Given the description of an element on the screen output the (x, y) to click on. 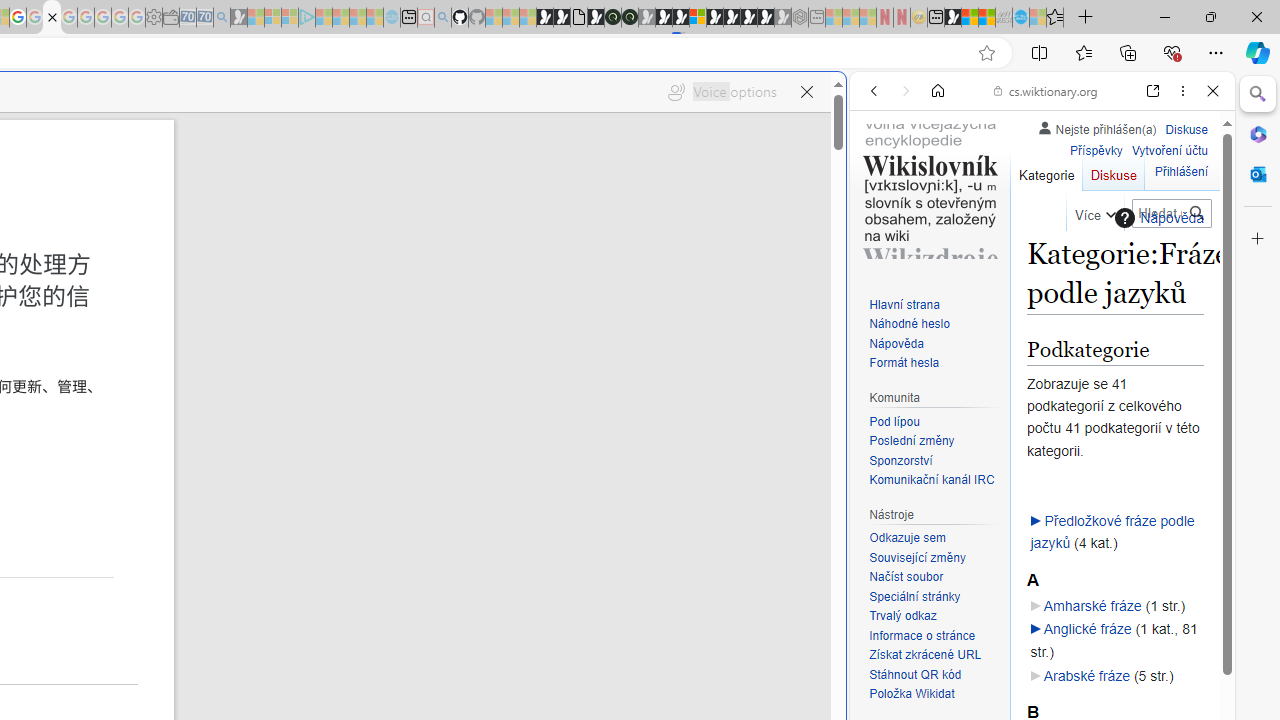
Diskuse (1113, 170)
Kategorie (1046, 170)
cs.wiktionary.org (1046, 90)
Play Free Online Games | Games from Microsoft Start (731, 17)
Wiktionary (1034, 669)
